Given the description of an element on the screen output the (x, y) to click on. 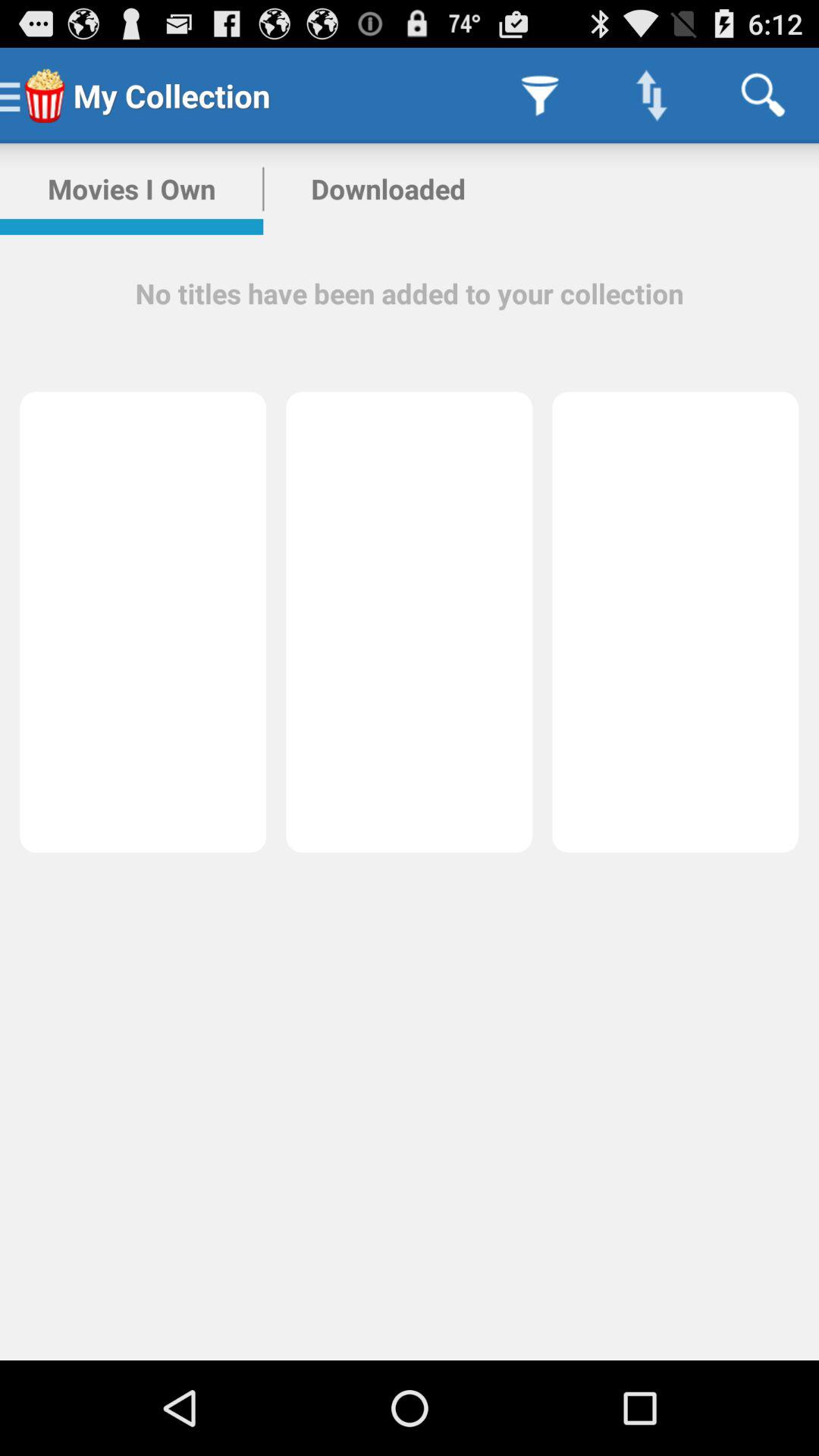
click icon next to the movies i own item (388, 188)
